Given the description of an element on the screen output the (x, y) to click on. 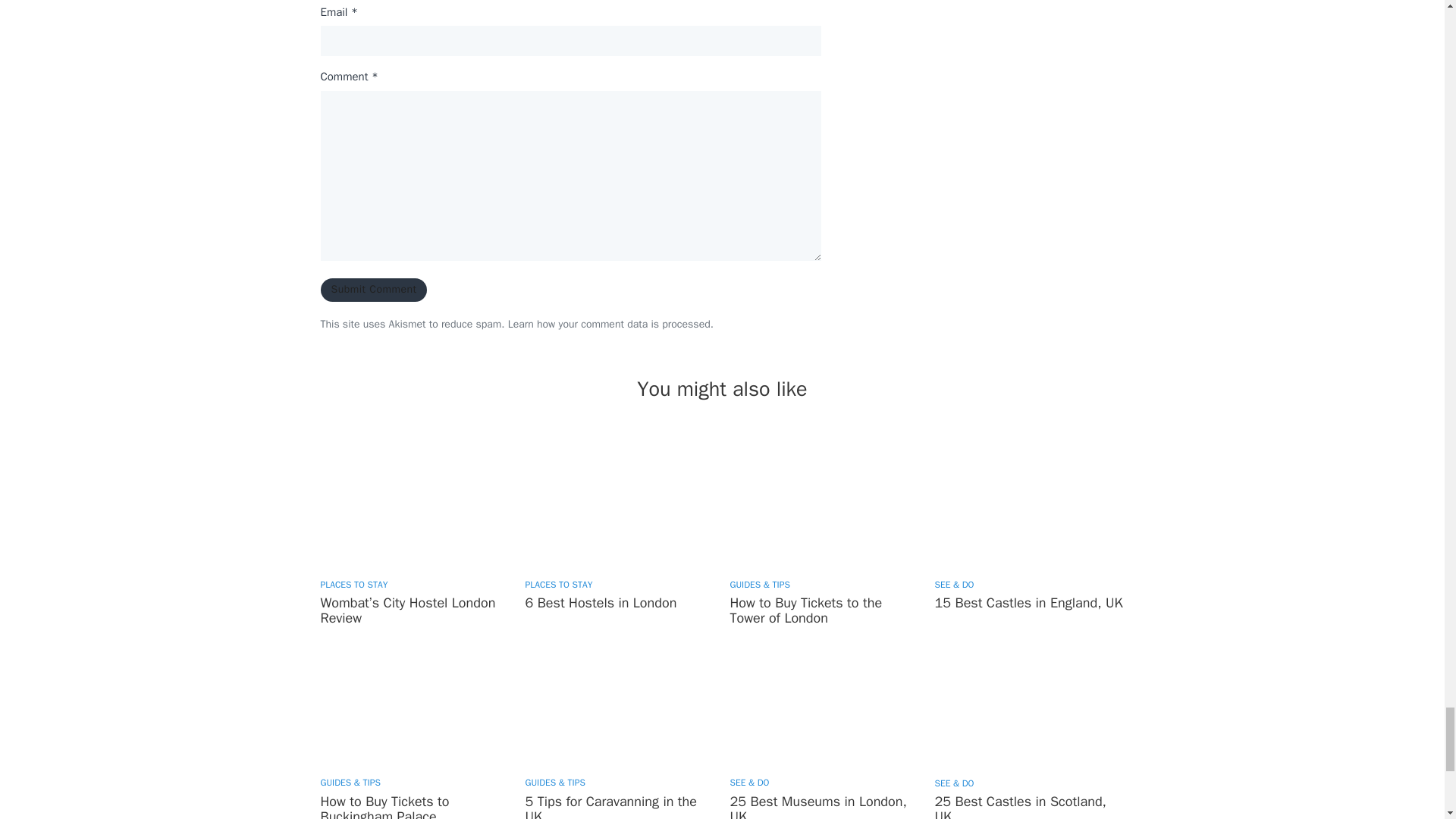
Submit Comment (373, 289)
